Given the description of an element on the screen output the (x, y) to click on. 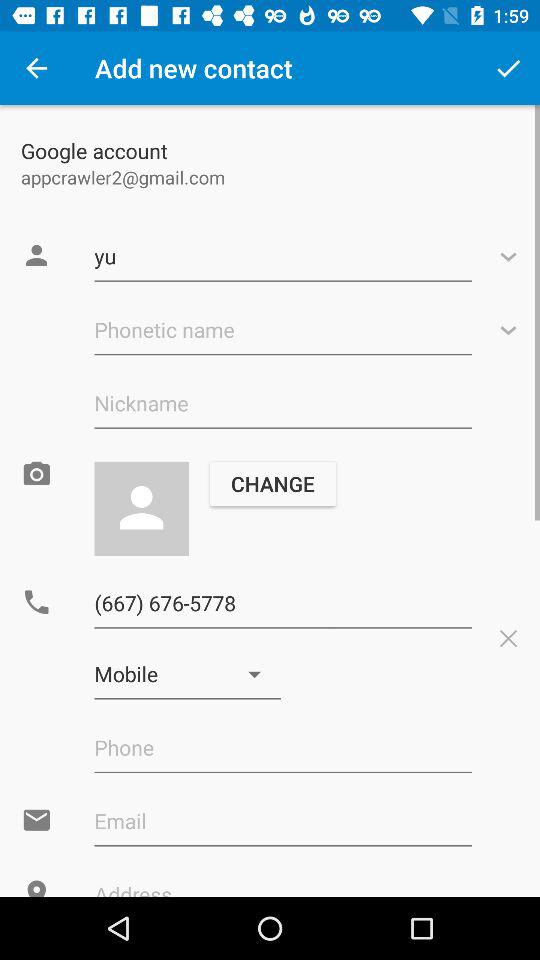
select the entry bar phone below mobile (282, 748)
select the first text field on the web page (282, 255)
select the call icon beside 6676765778 (36, 602)
select the icon to the left of address (36, 887)
